Given the description of an element on the screen output the (x, y) to click on. 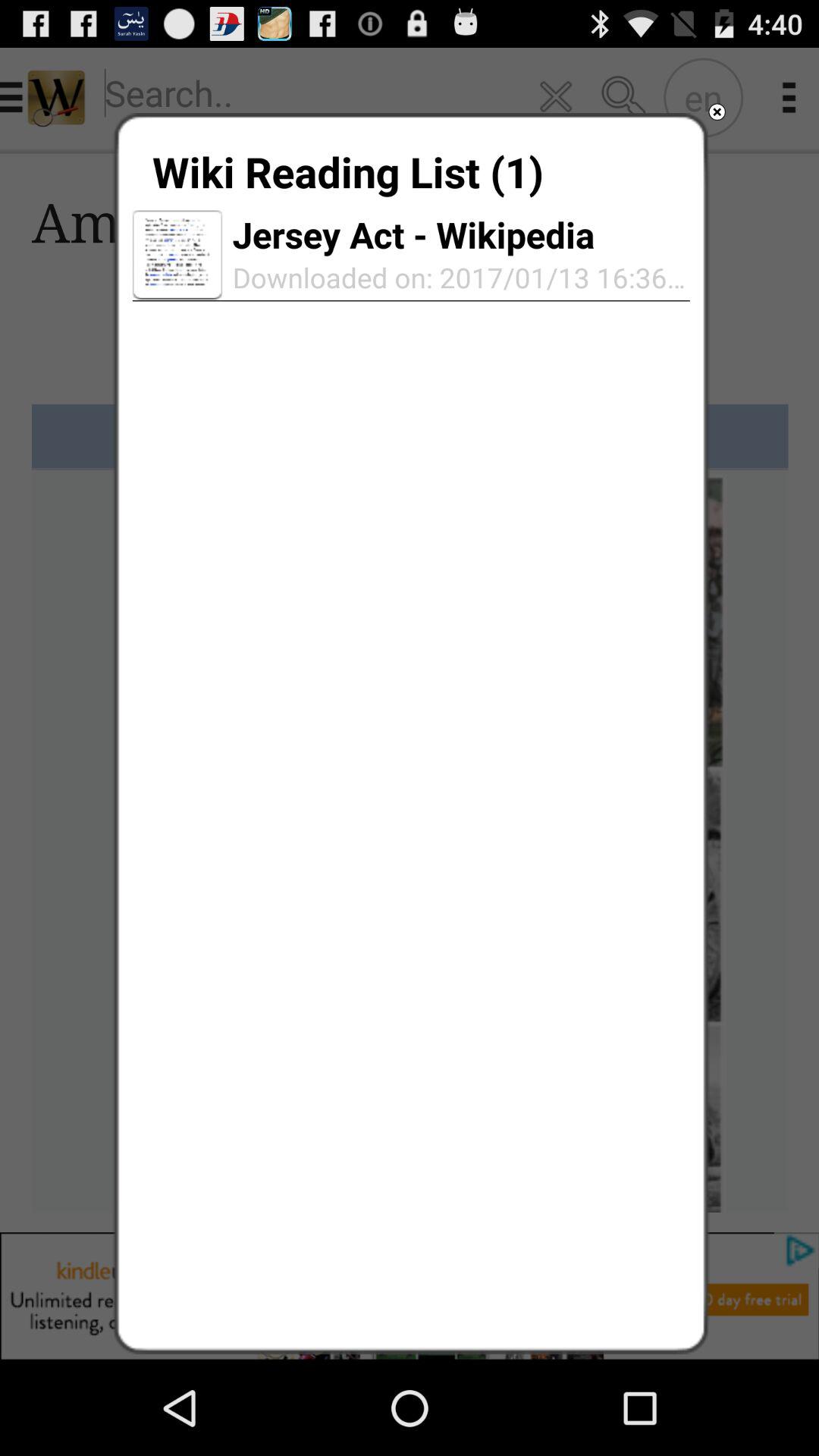
launch the icon below the jersey act - wikipedia app (455, 277)
